Given the description of an element on the screen output the (x, y) to click on. 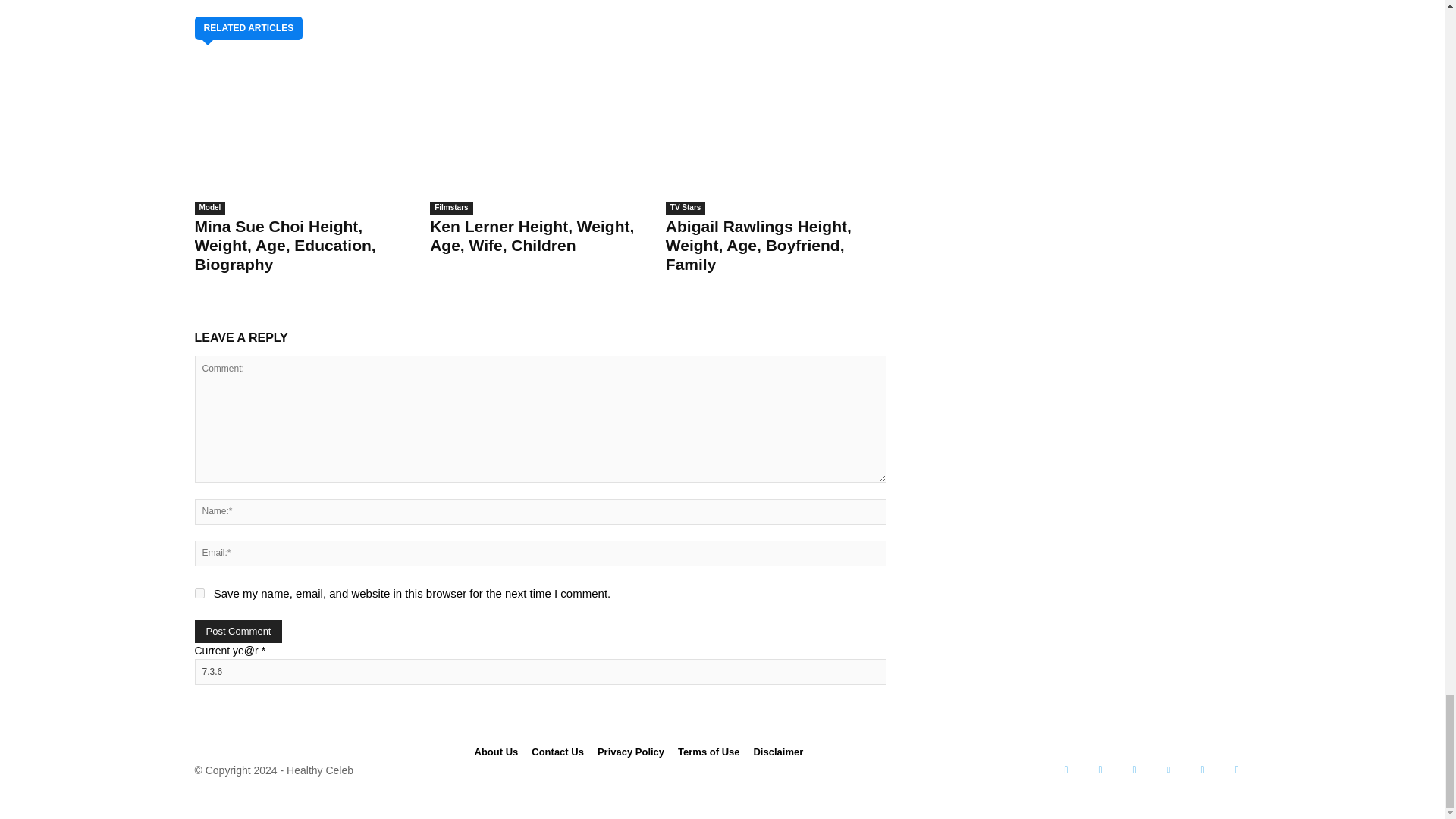
Post Comment (237, 630)
yes (198, 593)
7.3.6 (539, 671)
